Given the description of an element on the screen output the (x, y) to click on. 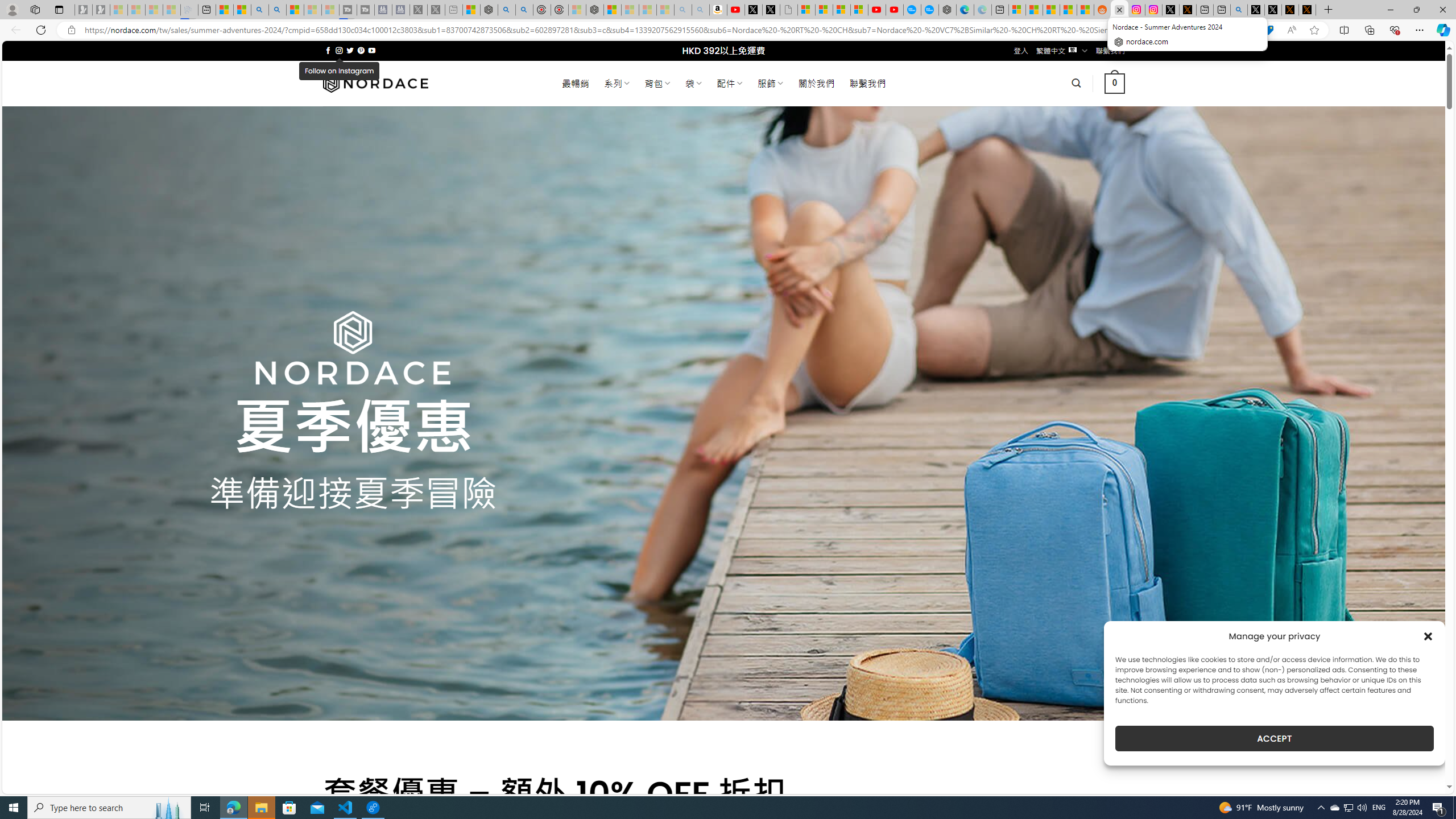
Gloom - YouTube (877, 9)
App bar (728, 29)
Profile / X (1256, 9)
Search (277, 9)
Untitled (788, 9)
New tab - Sleeping (453, 9)
Follow on Twitter (349, 50)
